Given the description of an element on the screen output the (x, y) to click on. 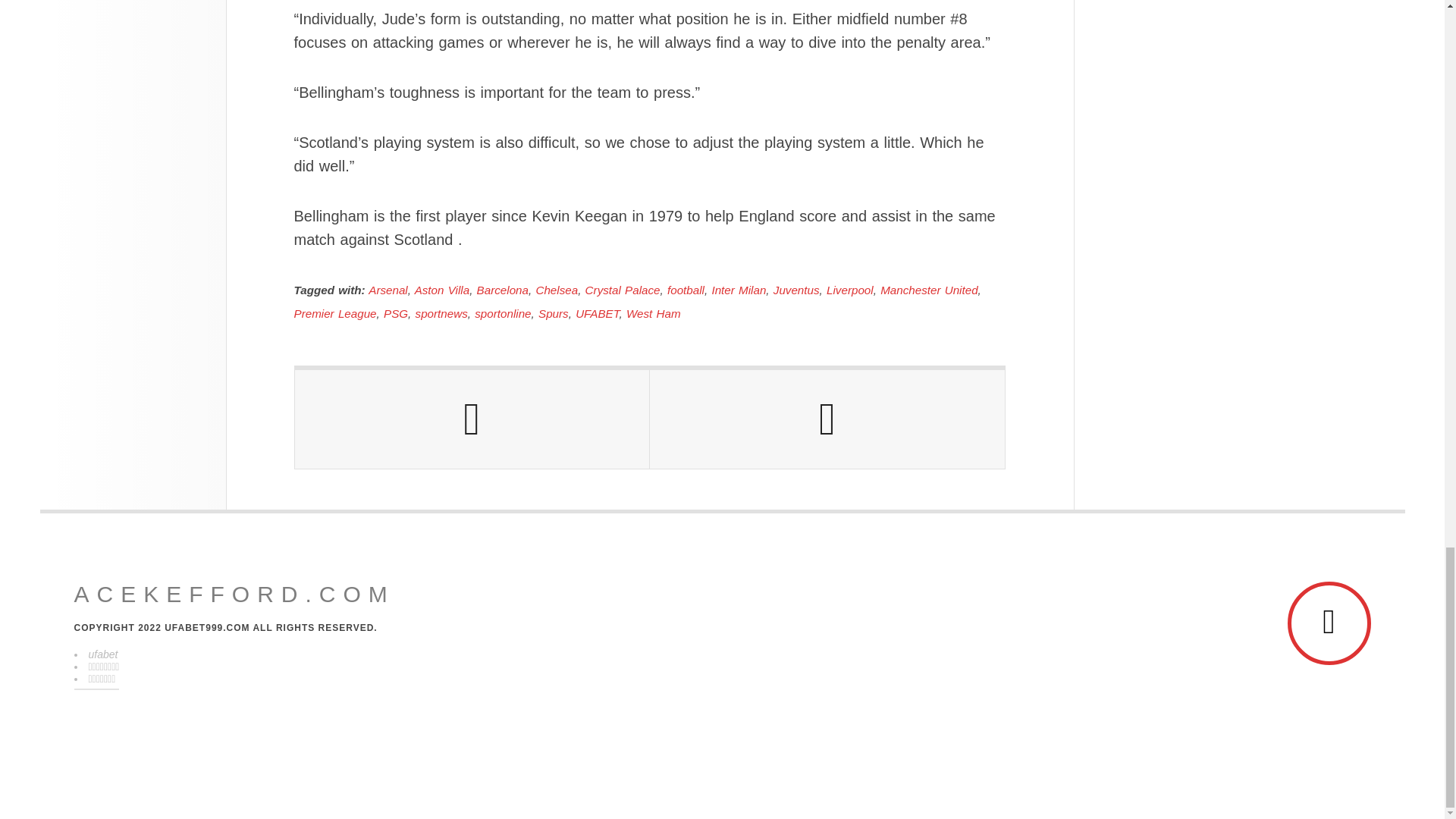
Aston Villa (441, 289)
Inter Milan (738, 289)
acekefford.com (234, 594)
PSG (395, 313)
Previous Post (471, 419)
sportonline (502, 313)
sportnews (440, 313)
Juventus (796, 289)
Liverpool (850, 289)
UFABET (596, 313)
